Given the description of an element on the screen output the (x, y) to click on. 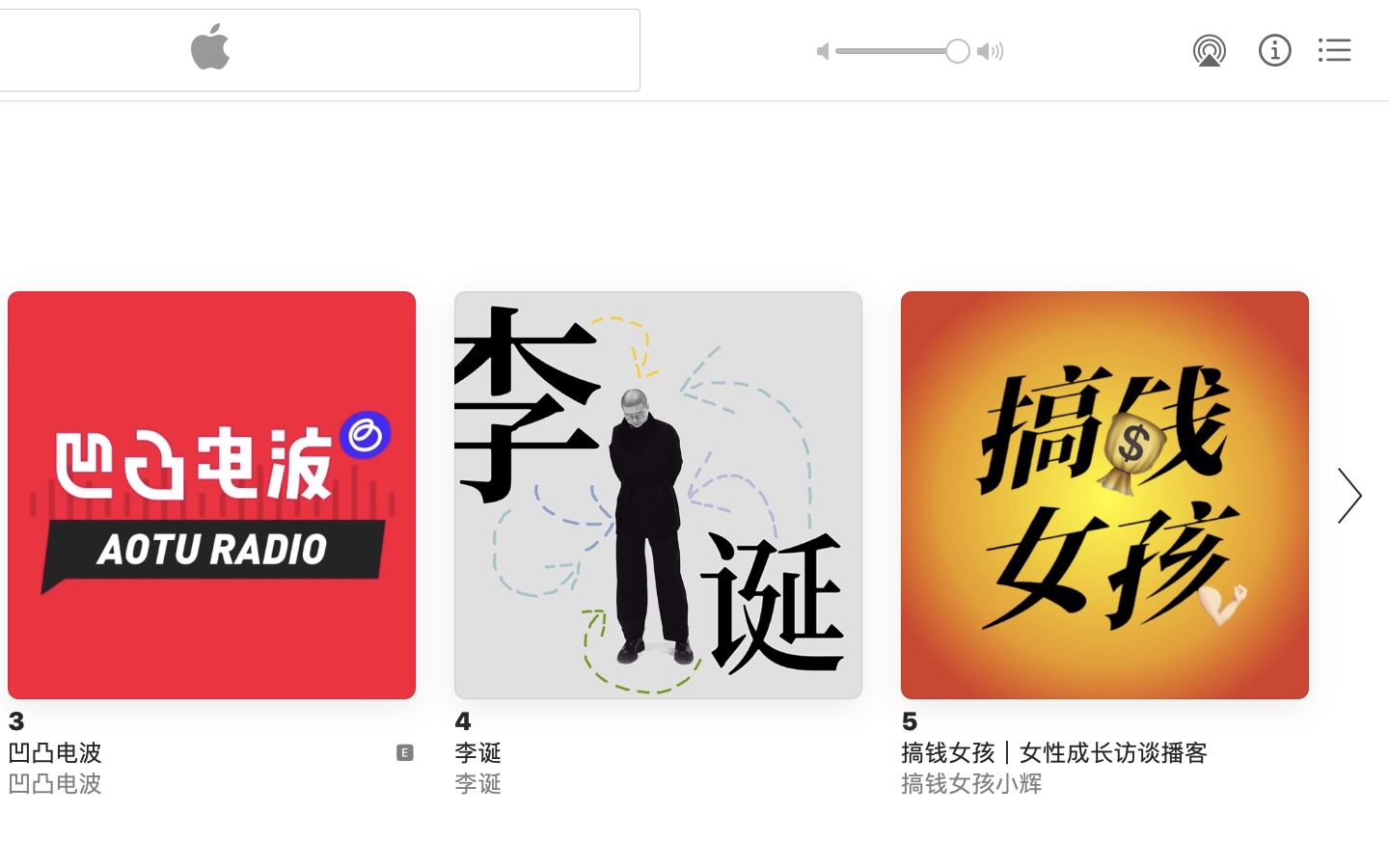
1.0 Element type: AXSlider (902, 50)
